Given the description of an element on the screen output the (x, y) to click on. 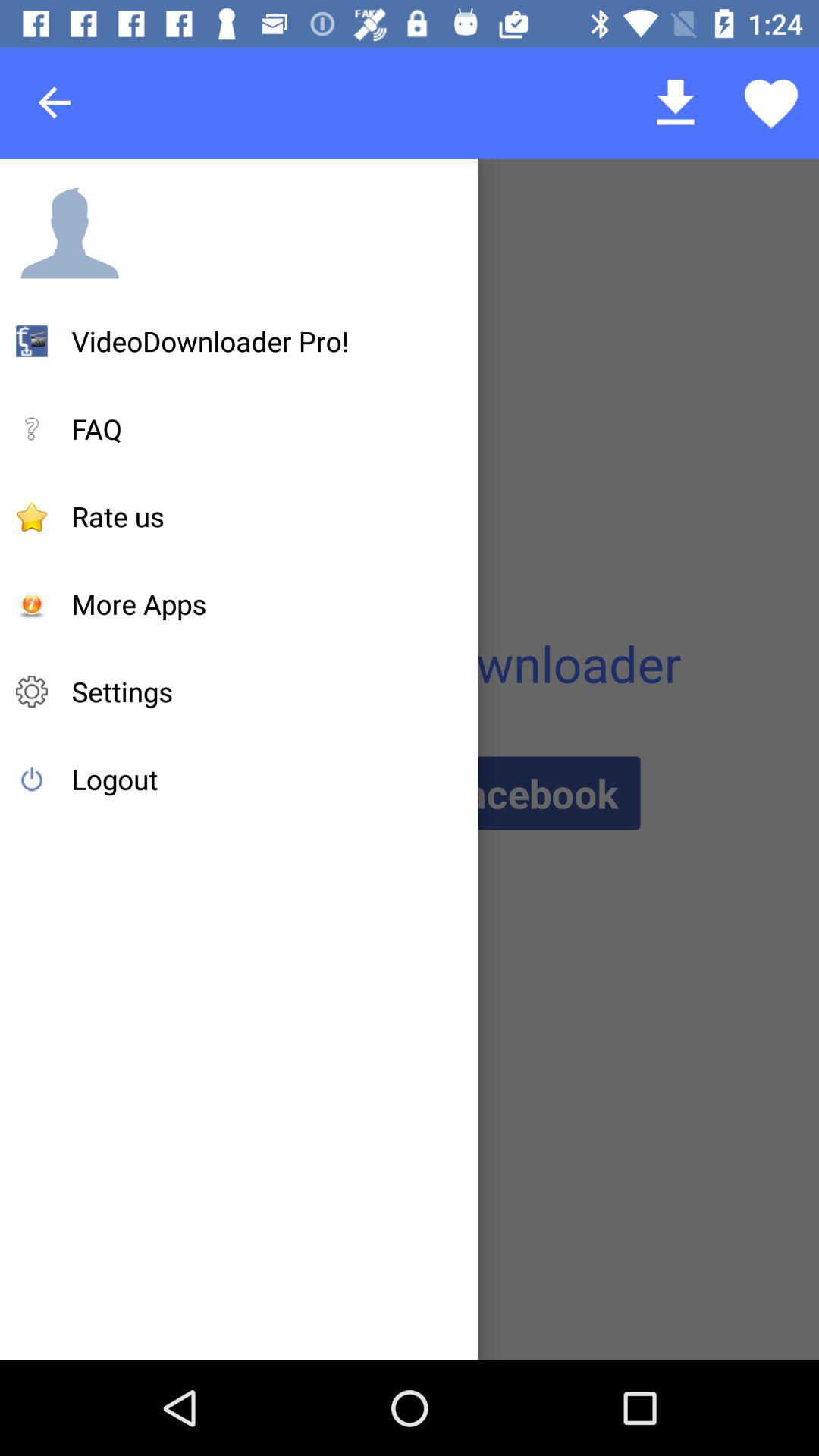
turn off icon above public videodownloader (138, 603)
